Given the description of an element on the screen output the (x, y) to click on. 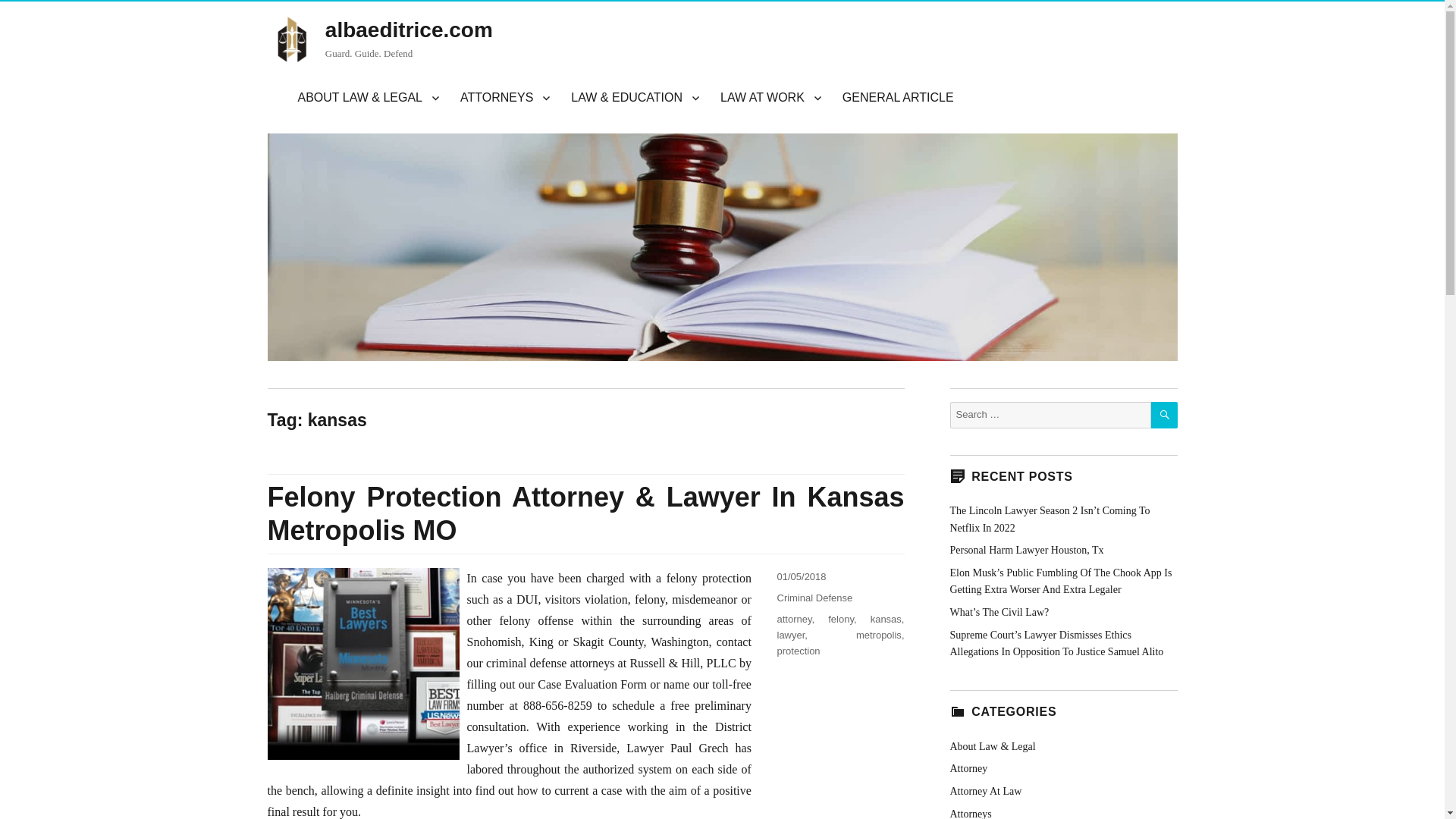
Search for: (1049, 415)
albaeditrice.com (408, 29)
ATTORNEYS (504, 97)
Criminal Defense (813, 597)
GENERAL ARTICLE (897, 97)
LAW AT WORK (770, 97)
